Given the description of an element on the screen output the (x, y) to click on. 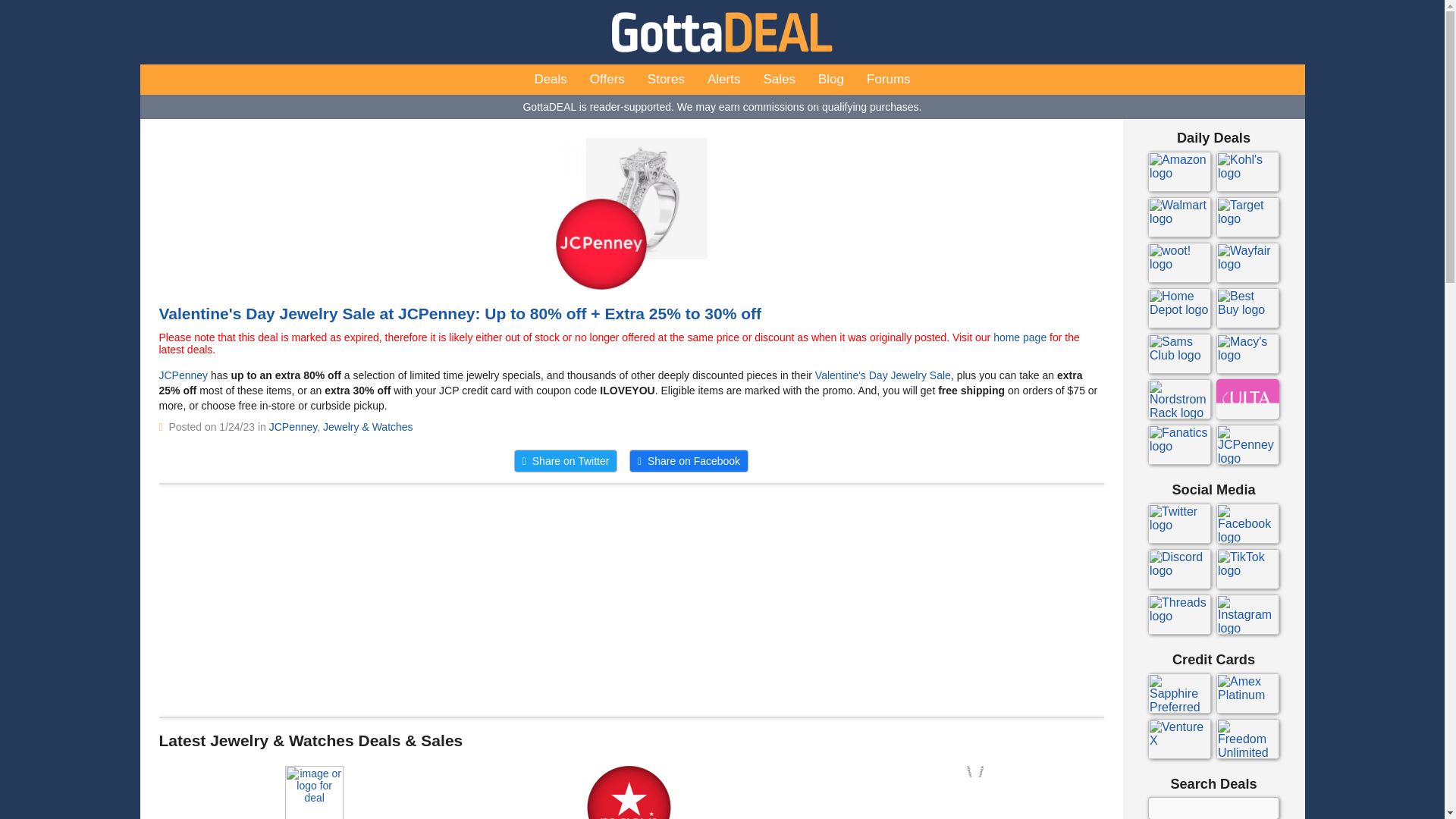
Forums (888, 79)
Sales (778, 79)
Alerts (723, 79)
  Share on Twitter (565, 460)
Valentine's Day Jewelry Sale (882, 375)
JCPenney (293, 426)
home page (1019, 337)
Offers (607, 79)
Stores (665, 79)
Deals (550, 79)
